Given the description of an element on the screen output the (x, y) to click on. 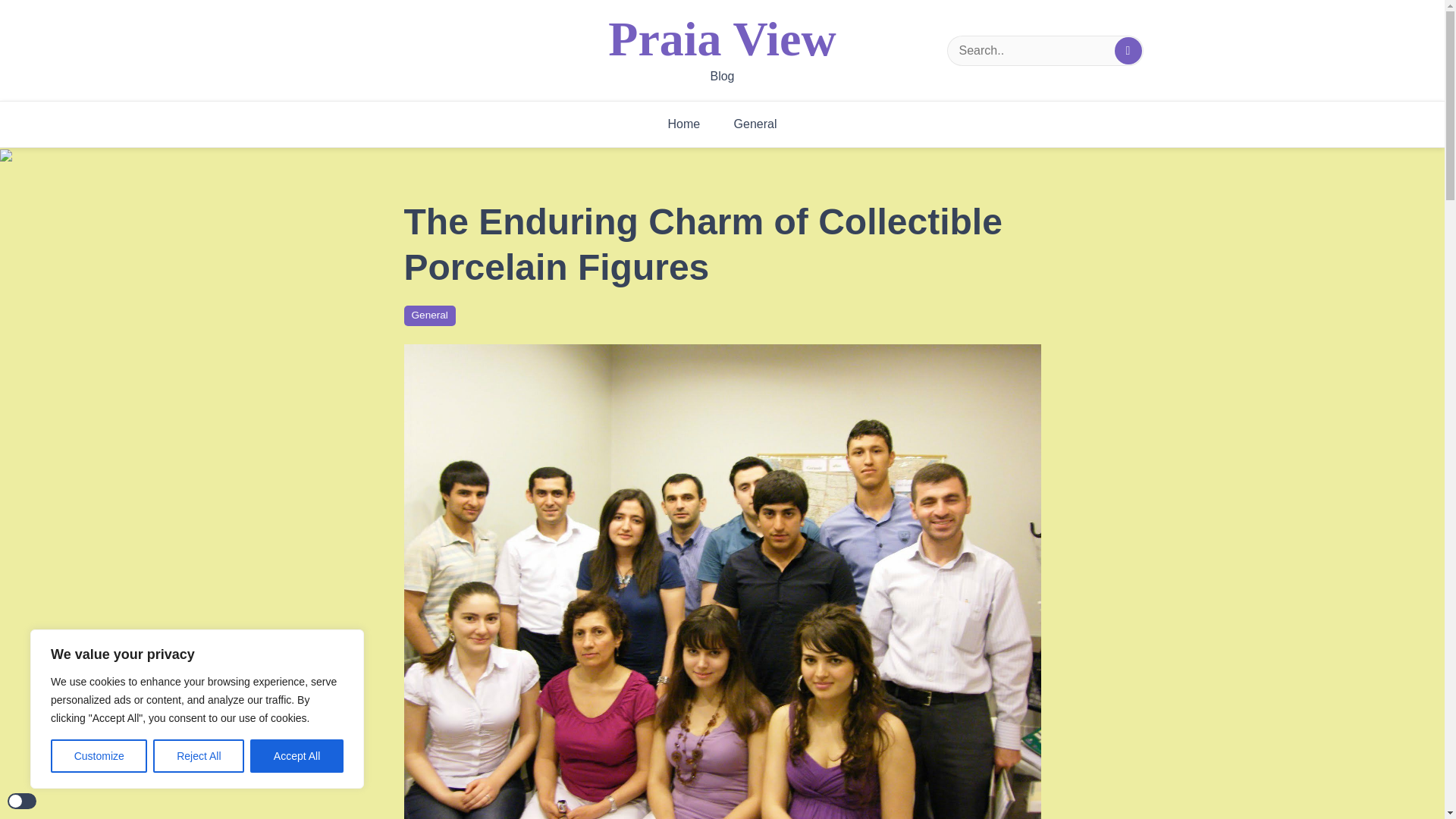
Customize (98, 756)
General (428, 315)
Accept All (296, 756)
Reject All (198, 756)
General (755, 123)
Praia View (721, 39)
Home (683, 123)
